Given the description of an element on the screen output the (x, y) to click on. 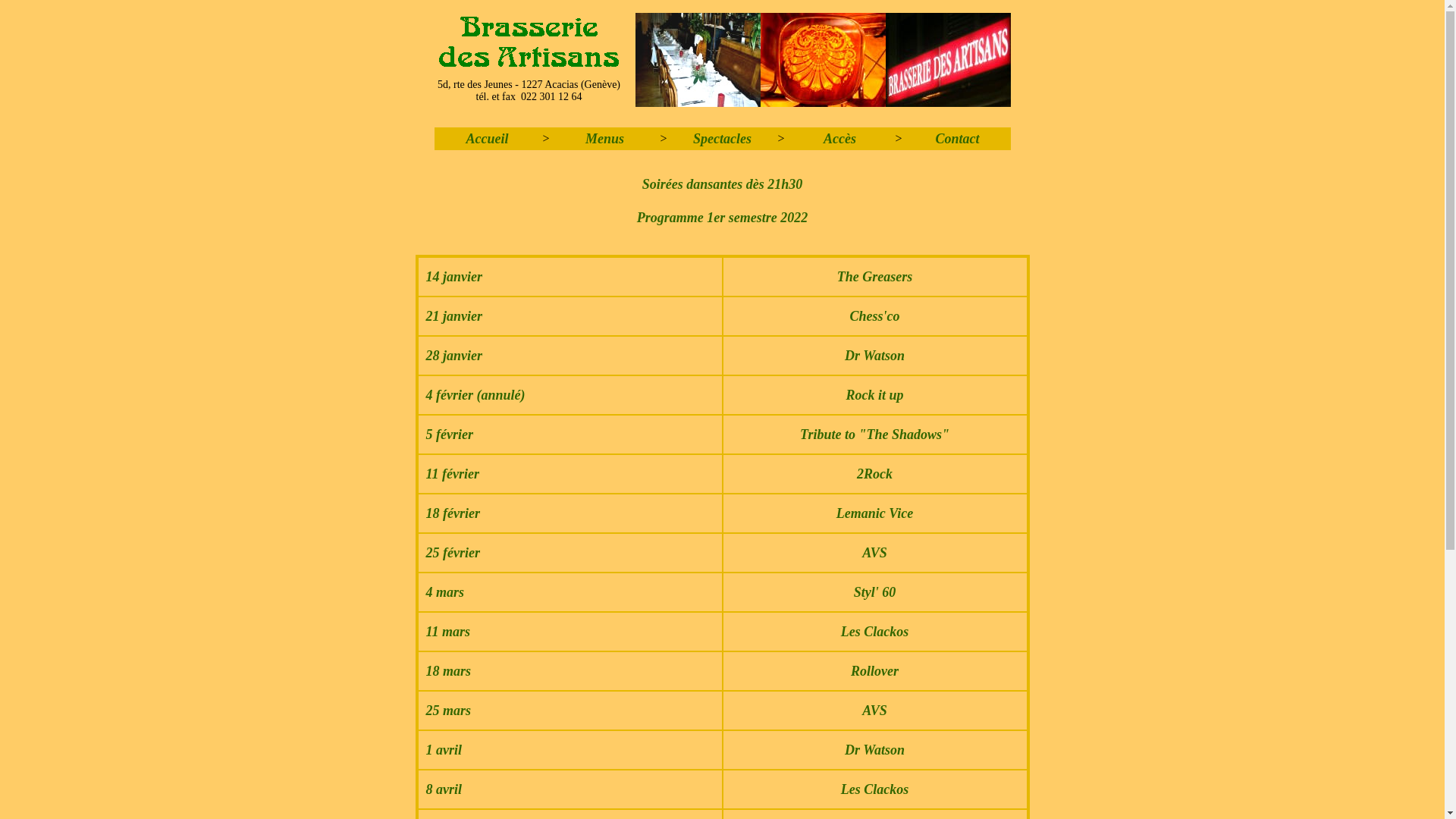
Styl' 60 Element type: text (874, 591)
Les Clackos Element type: text (874, 631)
Contact Element type: text (956, 138)
Menus Element type: text (605, 138)
Spectacles Element type: text (721, 138)
Accueil Element type: text (486, 138)
Tribute to "The Shadows" Element type: text (874, 434)
Les Clackos Element type: text (874, 789)
